Given the description of an element on the screen output the (x, y) to click on. 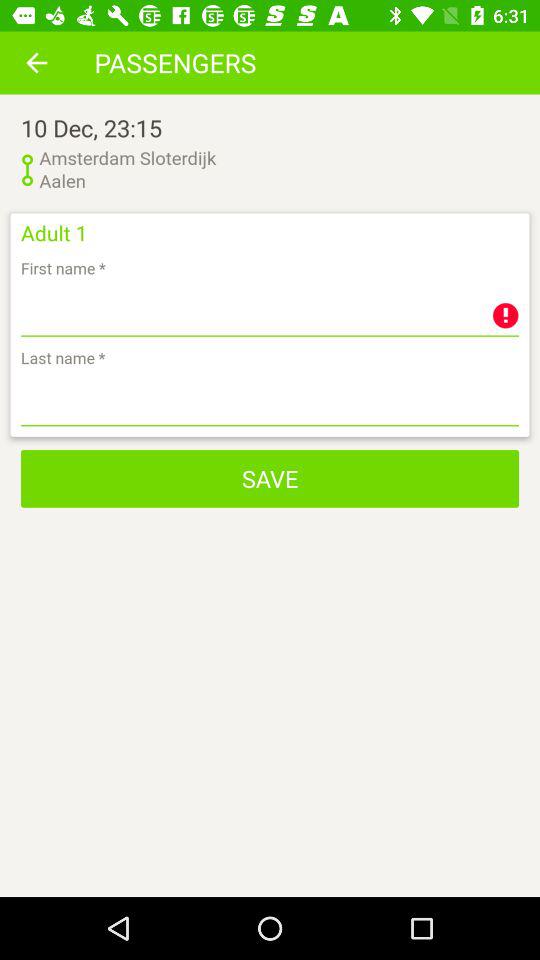
enter last name (270, 399)
